Given the description of an element on the screen output the (x, y) to click on. 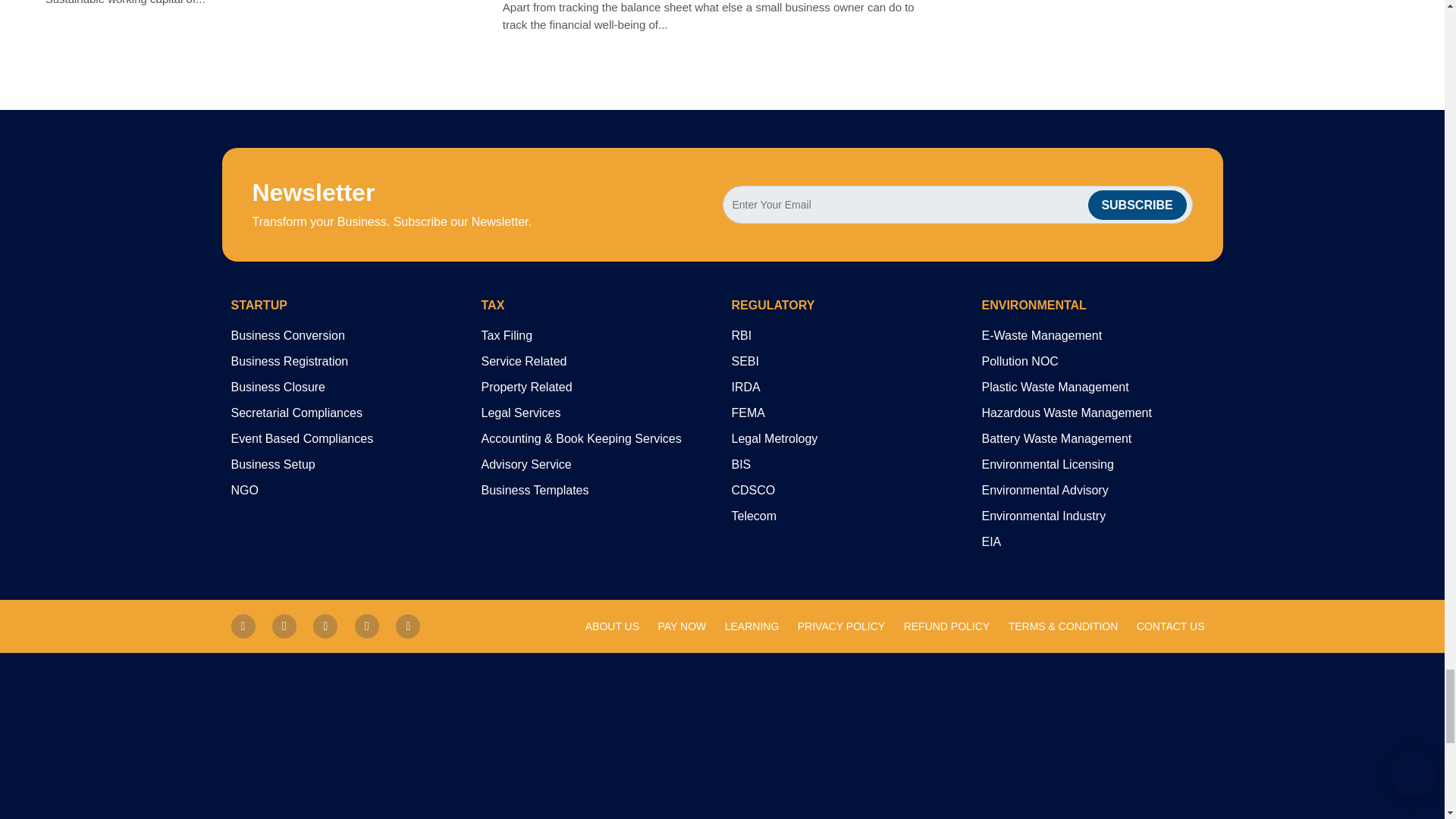
SUBSCRIBE (1136, 205)
